Given the description of an element on the screen output the (x, y) to click on. 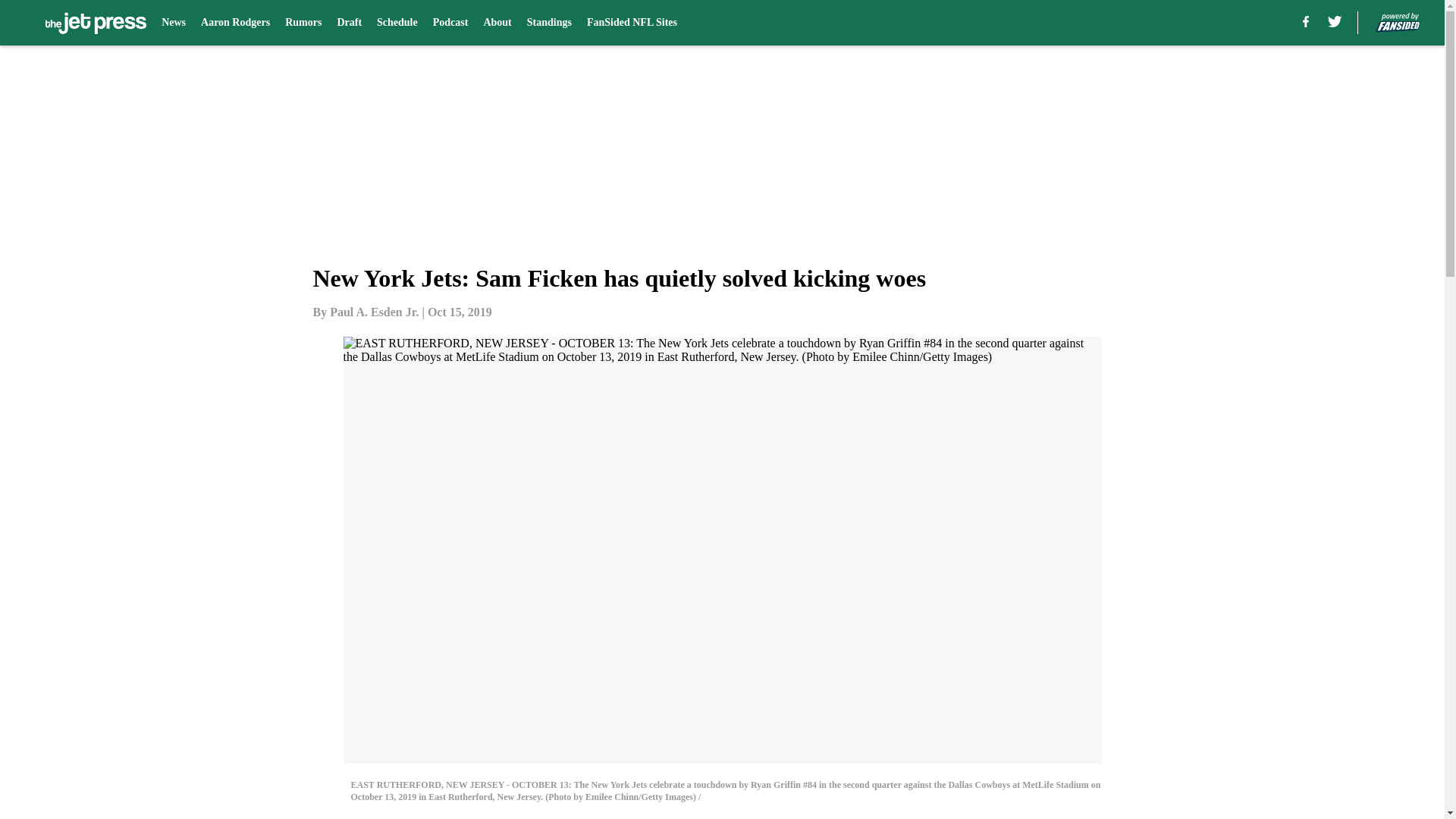
About (497, 22)
Aaron Rodgers (234, 22)
News (173, 22)
Podcast (450, 22)
Schedule (397, 22)
Standings (549, 22)
Draft (348, 22)
FanSided NFL Sites (631, 22)
Rumors (303, 22)
